Given the description of an element on the screen output the (x, y) to click on. 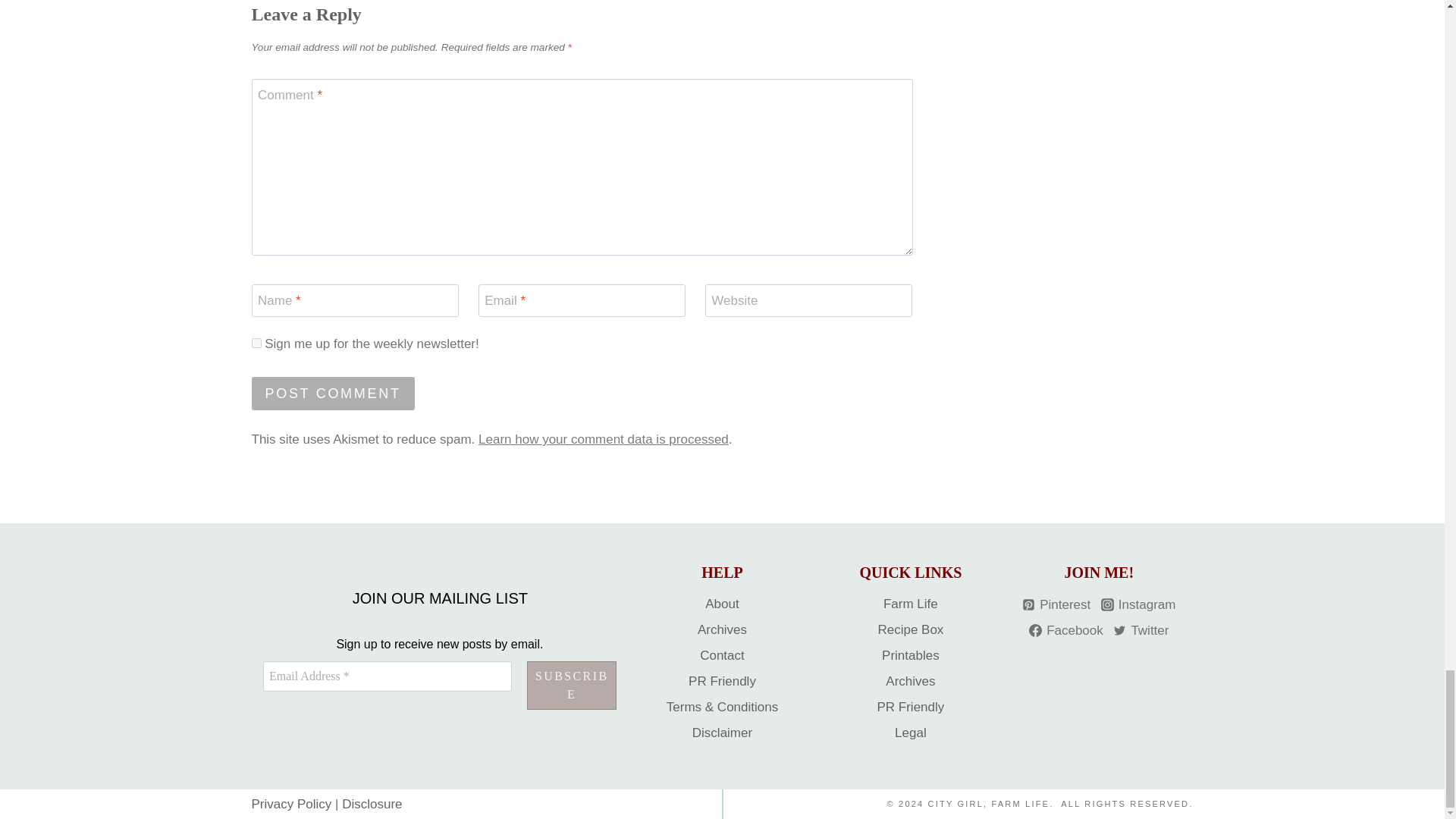
Subscribe (571, 685)
1 (256, 343)
Post Comment (332, 392)
